Given the description of an element on the screen output the (x, y) to click on. 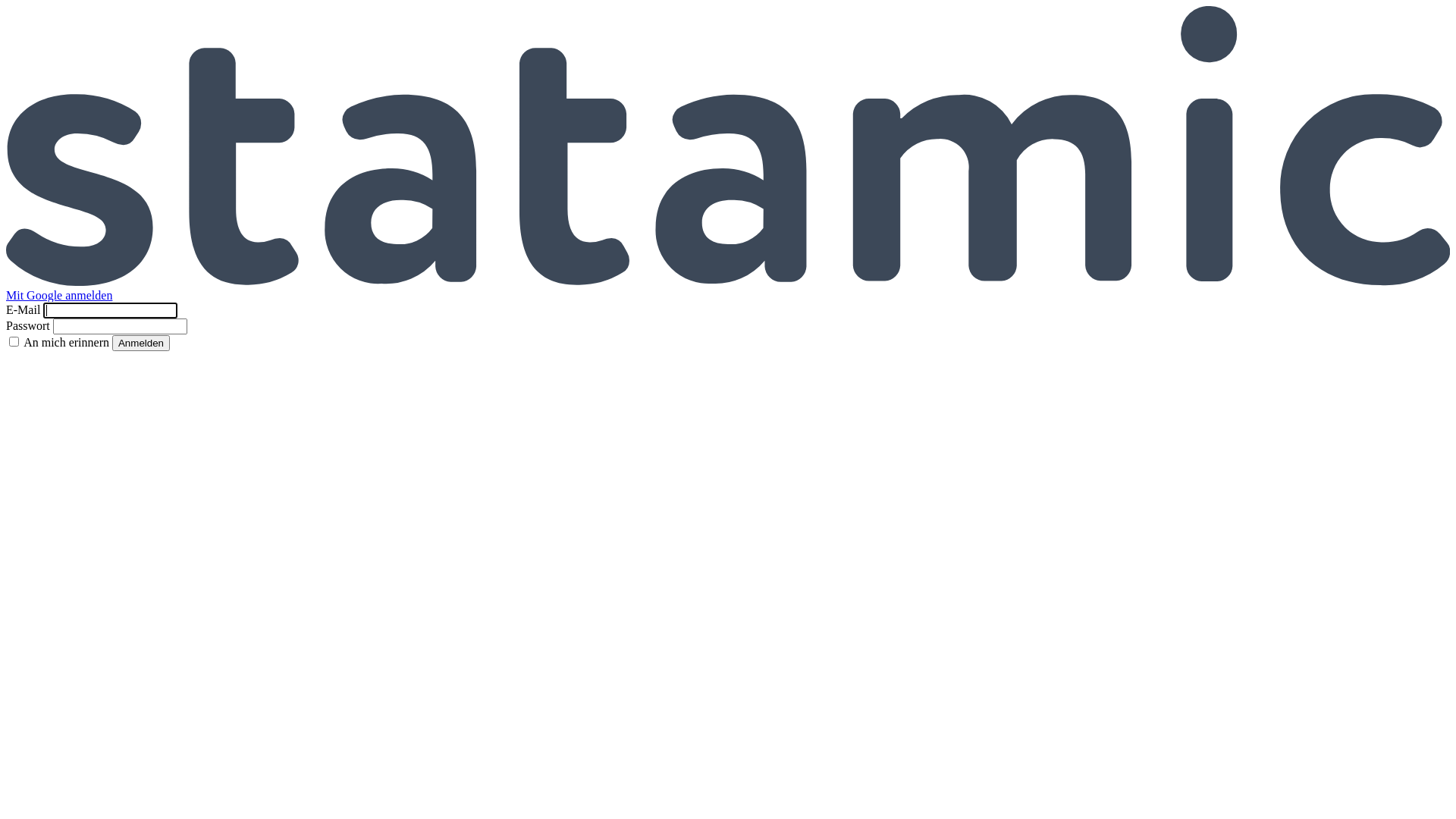
Mit Google anmelden Element type: text (59, 294)
Anmelden Element type: text (140, 343)
